Given the description of an element on the screen output the (x, y) to click on. 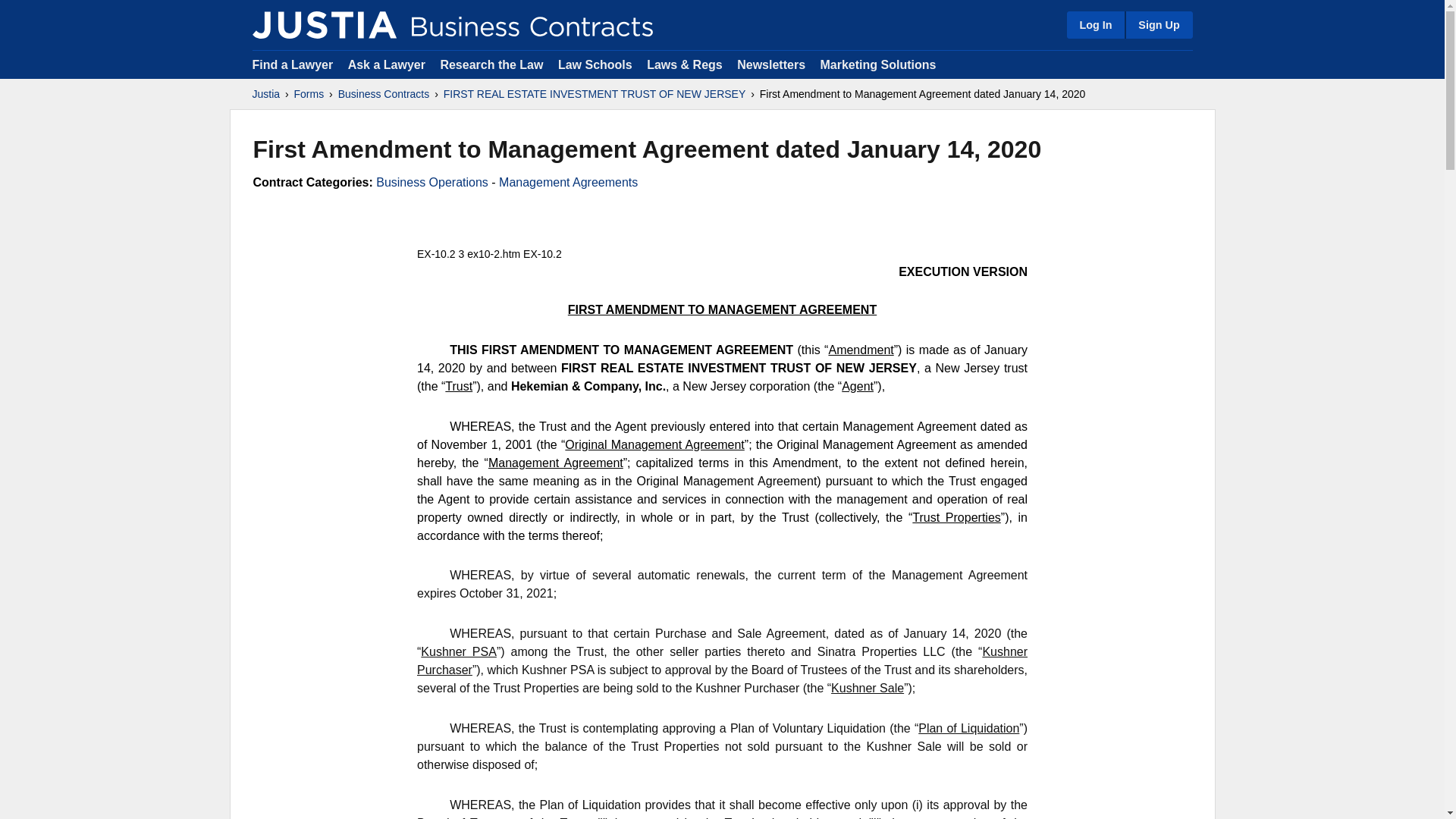
Business Operations (431, 182)
FIRST REAL ESTATE INVESTMENT TRUST OF NEW JERSEY (594, 93)
Marketing Solutions (877, 64)
Newsletters (770, 64)
Law Schools (594, 64)
Log In (1094, 24)
Forms (309, 93)
Find a Lawyer (292, 64)
Business Contracts (383, 93)
Ask a Lawyer (388, 64)
Research the Law (491, 64)
Justia (265, 93)
Management Agreements (568, 182)
Sign Up (1158, 24)
Justia (323, 24)
